Given the description of an element on the screen output the (x, y) to click on. 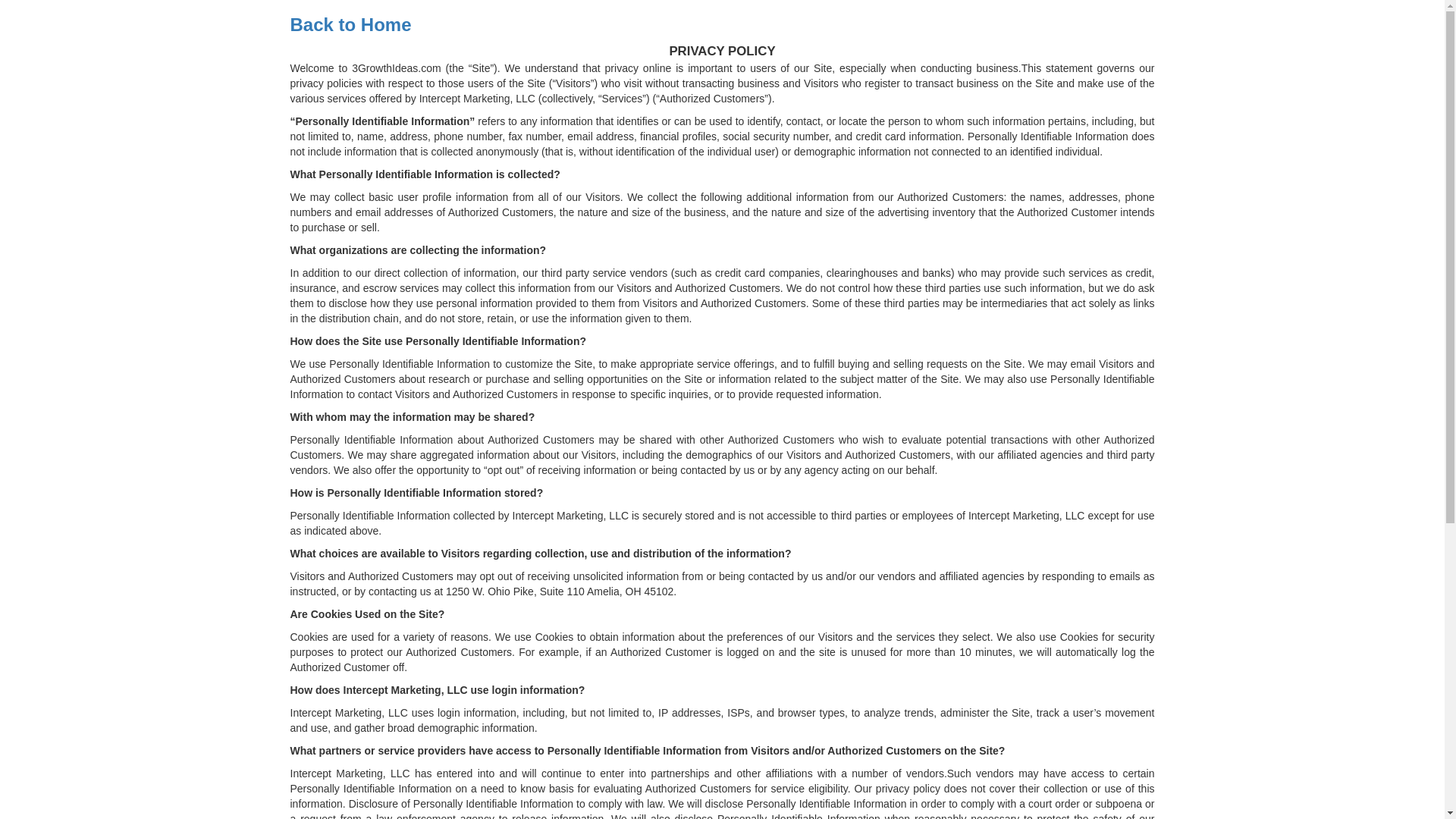
Back to Home Element type: text (350, 24)
